Given the description of an element on the screen output the (x, y) to click on. 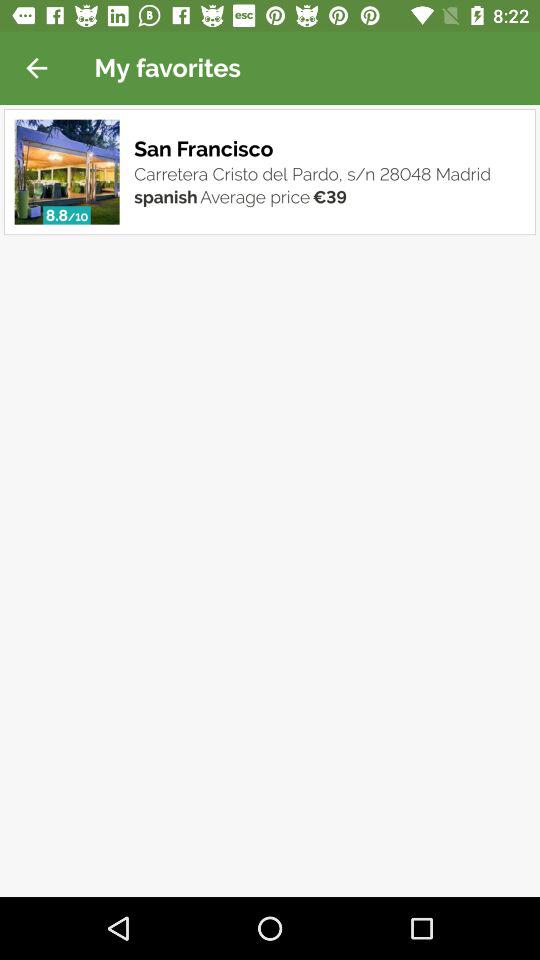
open item next to average price item (165, 195)
